Given the description of an element on the screen output the (x, y) to click on. 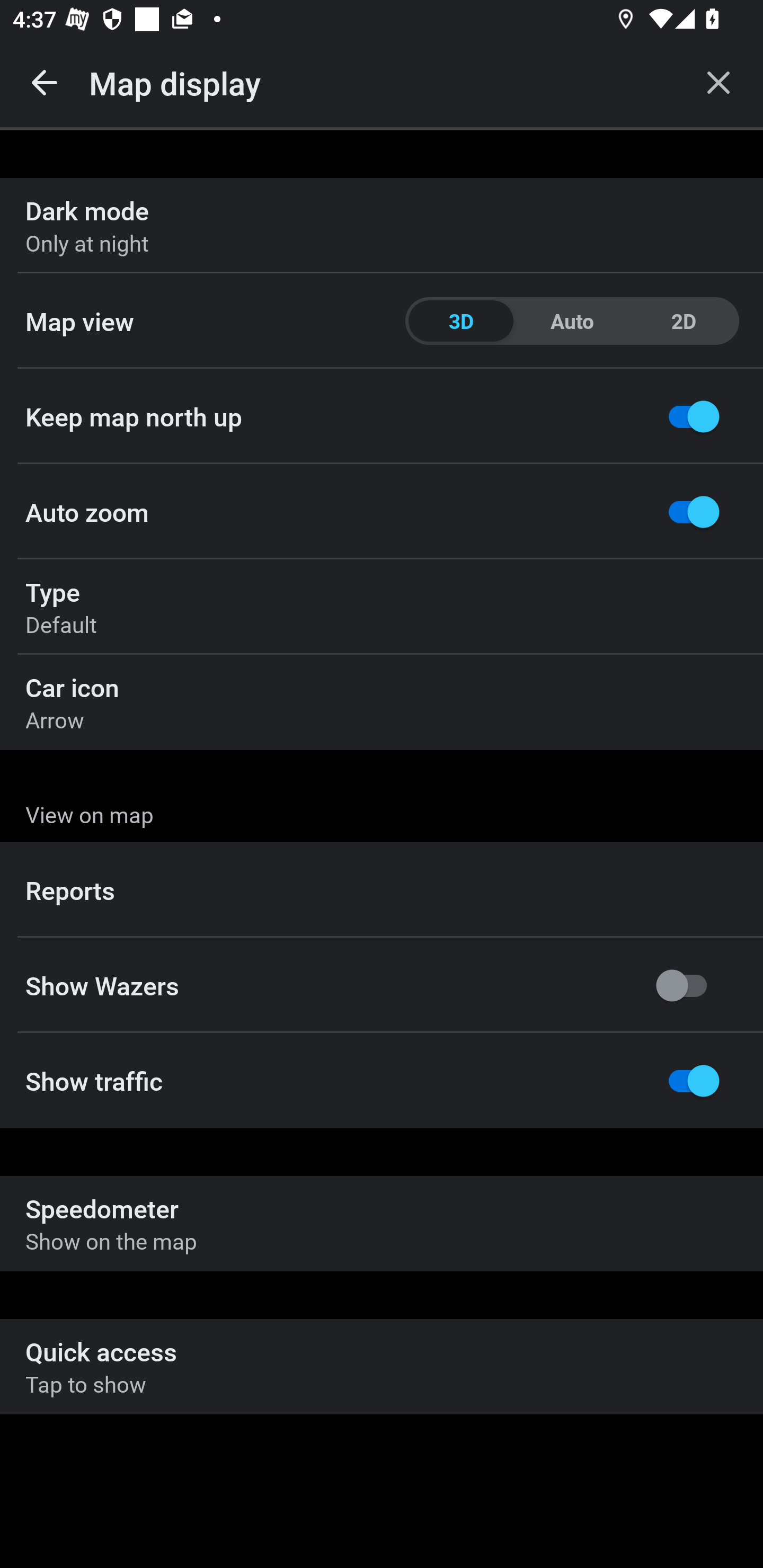
Dark mode Only at night (381, 225)
Keep map north up (381, 416)
Auto zoom (381, 511)
Type Default (381, 607)
Car icon Arrow (381, 702)
Reports (381, 889)
Show Wazers (381, 985)
Show traffic (381, 1080)
Speedometer Show on the map (381, 1223)
Quick access Tap to show (381, 1366)
